Given the description of an element on the screen output the (x, y) to click on. 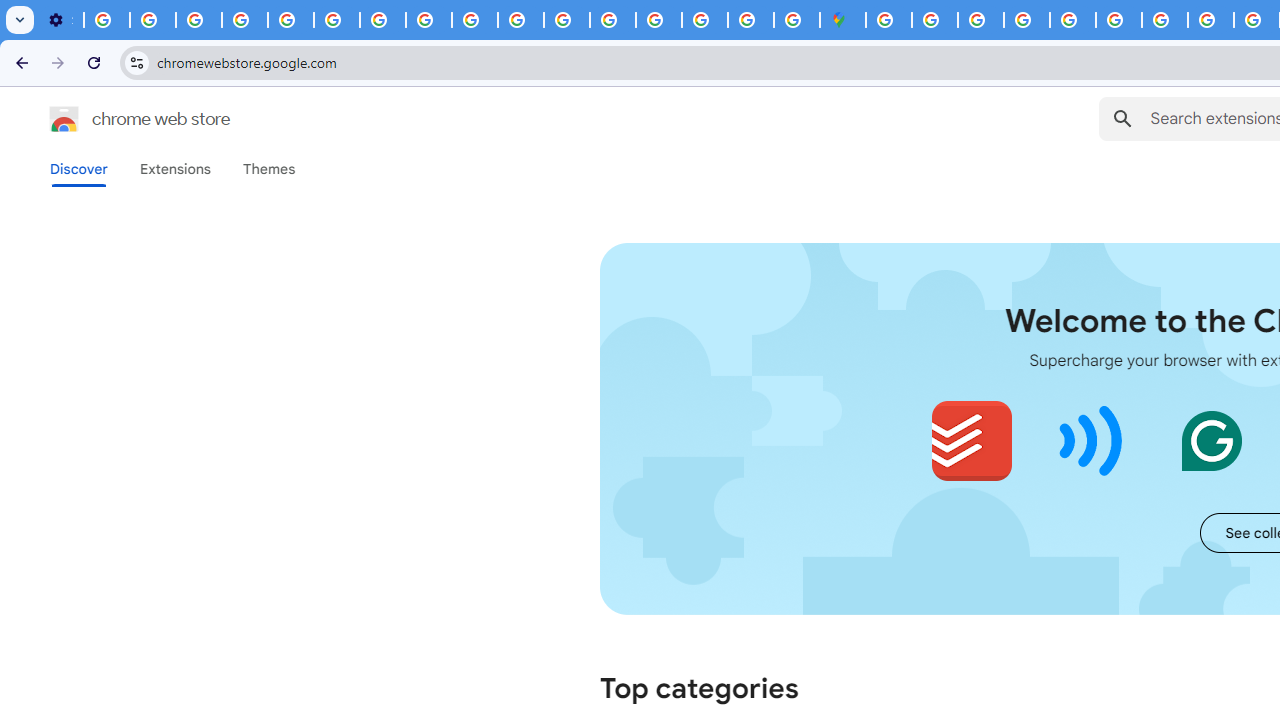
Google Account Help (244, 20)
Todoist for Chrome (971, 440)
Discover (79, 169)
Volume Master (1091, 440)
Privacy Help Center - Policies Help (428, 20)
Terms and Conditions (1118, 20)
Grammarly: AI Writing and Grammar Checker App (1211, 440)
Chrome Web Store logo (63, 118)
Blogger Policies and Guidelines - Transparency Center (1164, 20)
Sign in - Google Accounts (889, 20)
